Given the description of an element on the screen output the (x, y) to click on. 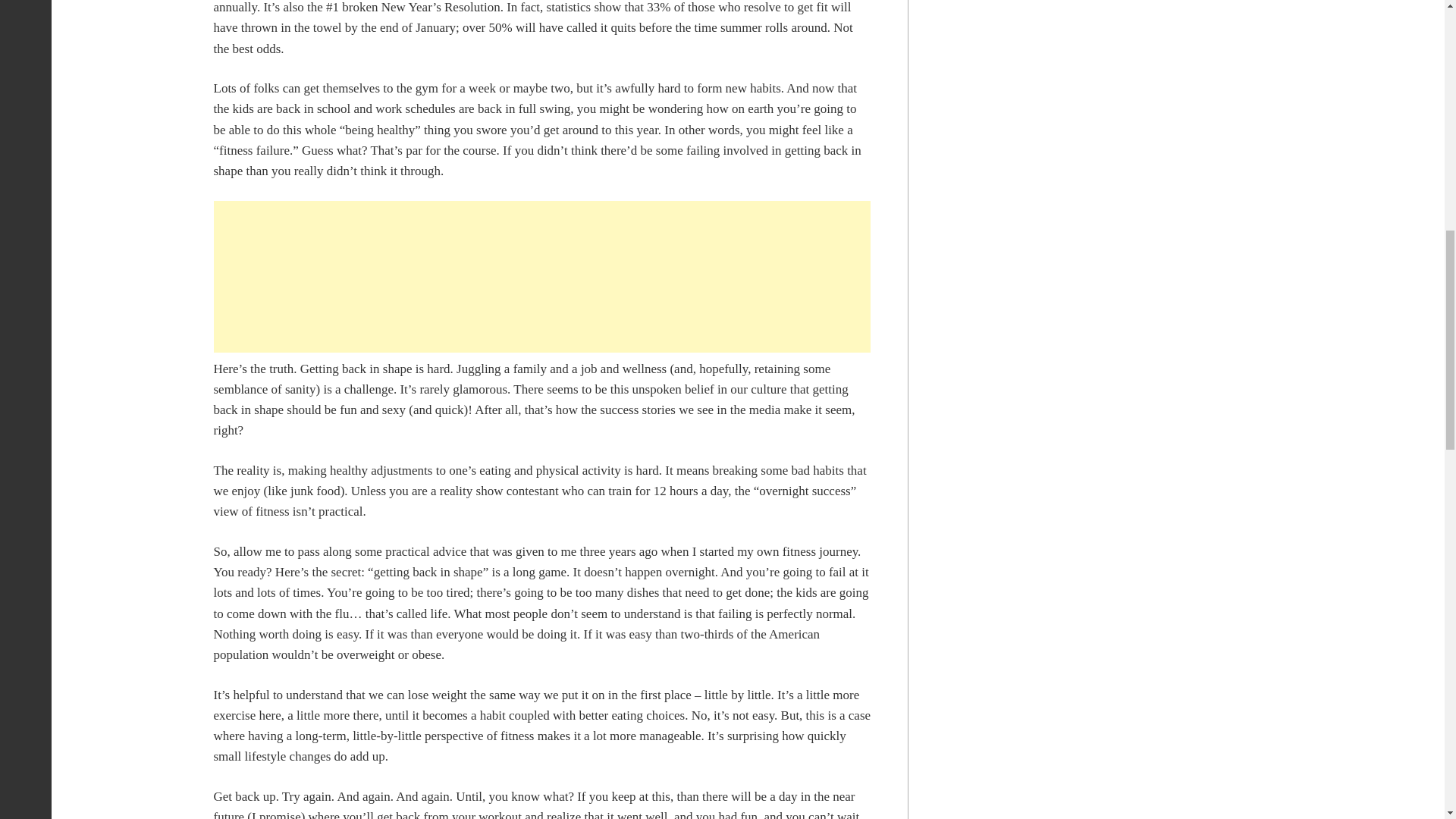
Advertisement (542, 276)
